Given the description of an element on the screen output the (x, y) to click on. 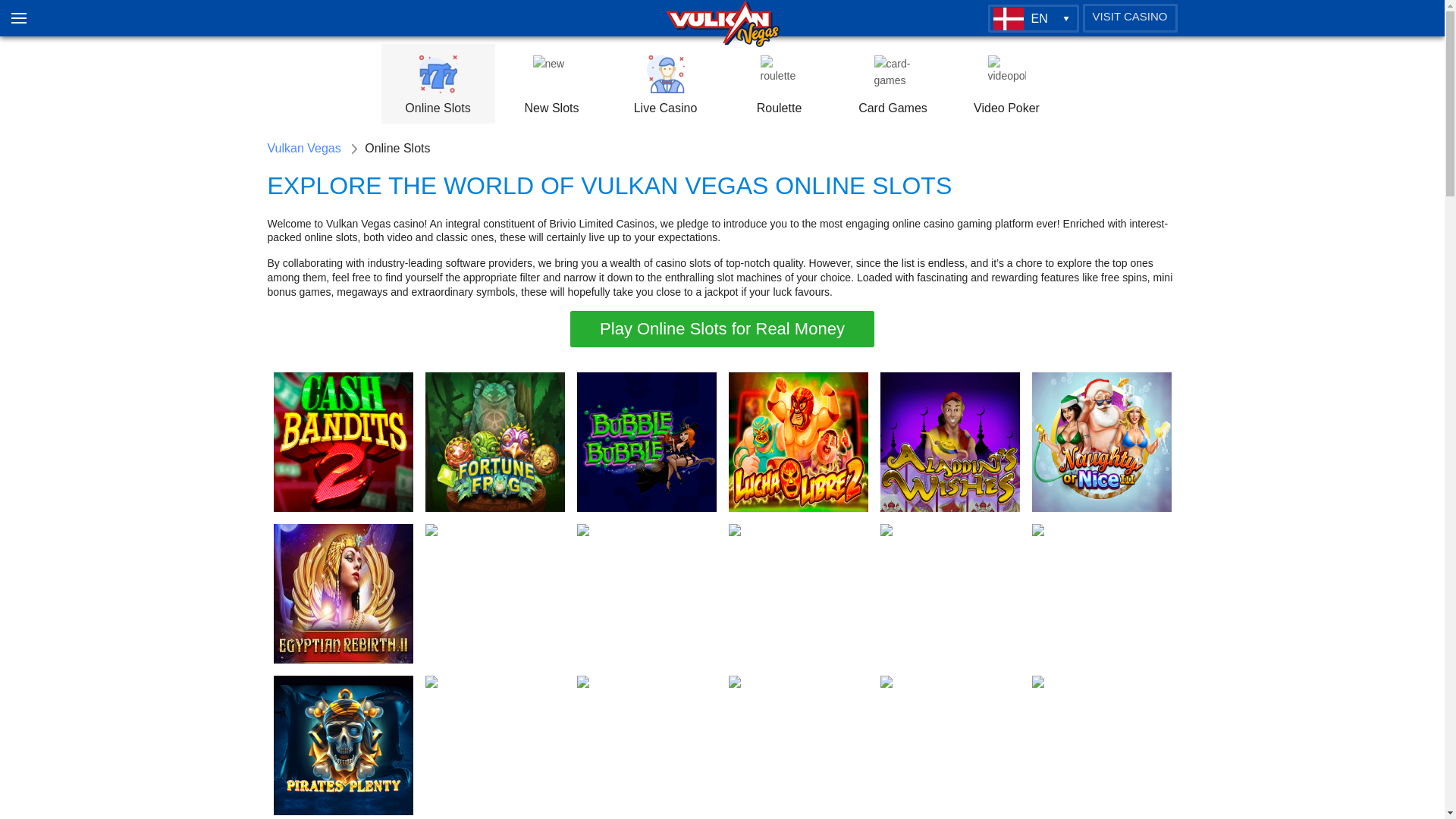
Video Poker (1005, 85)
Play Online Slots for Real Money (722, 329)
Vulkan Vegas (303, 148)
Live Casino (665, 85)
Card Games (892, 85)
Roulette (778, 85)
New Slots (551, 85)
VISIT CASINO (1130, 18)
